Given the description of an element on the screen output the (x, y) to click on. 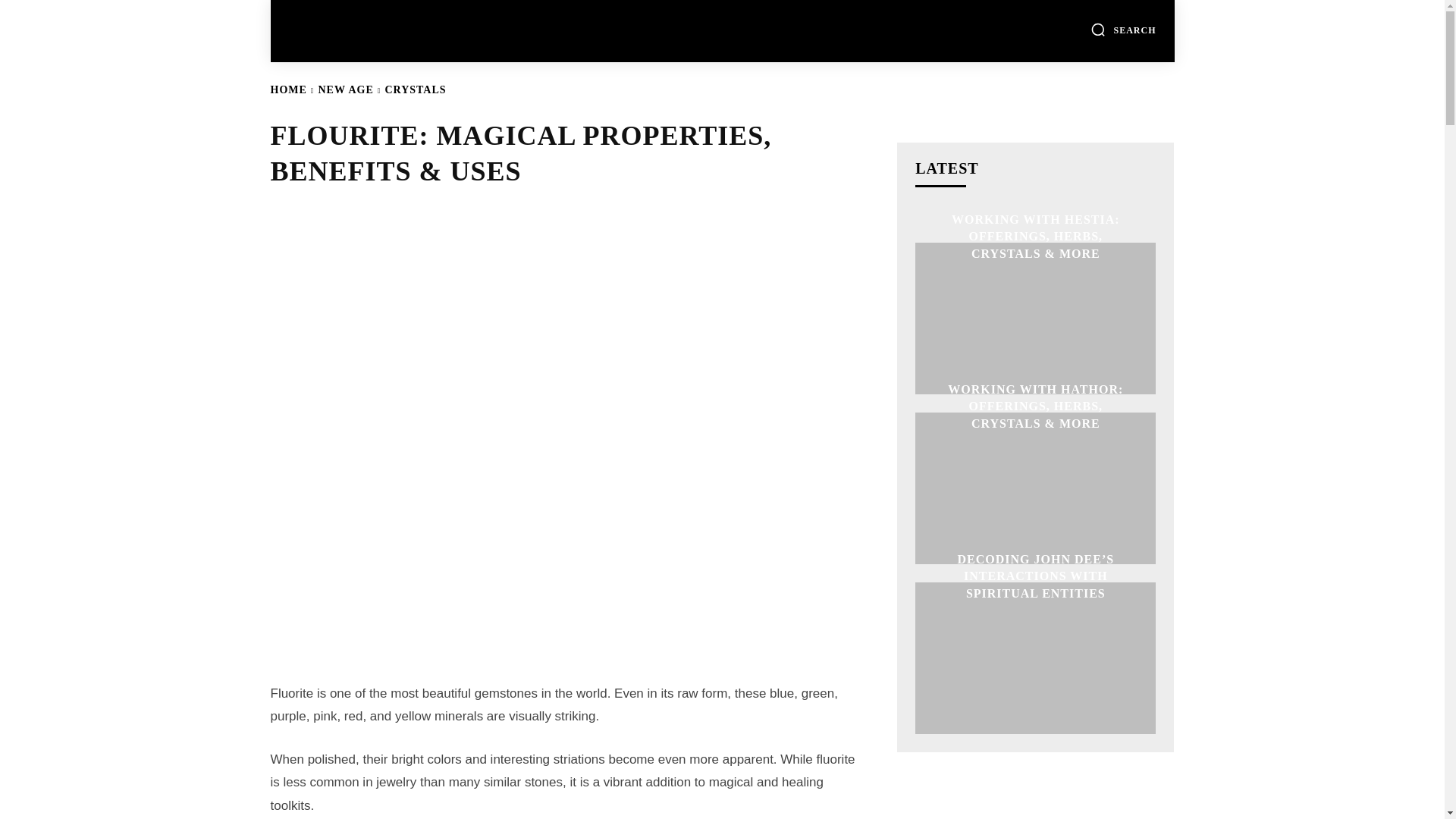
SEARCH (1123, 29)
CRYSTALS (414, 89)
HOME (287, 89)
View all posts in New Age (346, 89)
NEW AGE (346, 89)
View all posts in Crystals (414, 89)
